Given the description of an element on the screen output the (x, y) to click on. 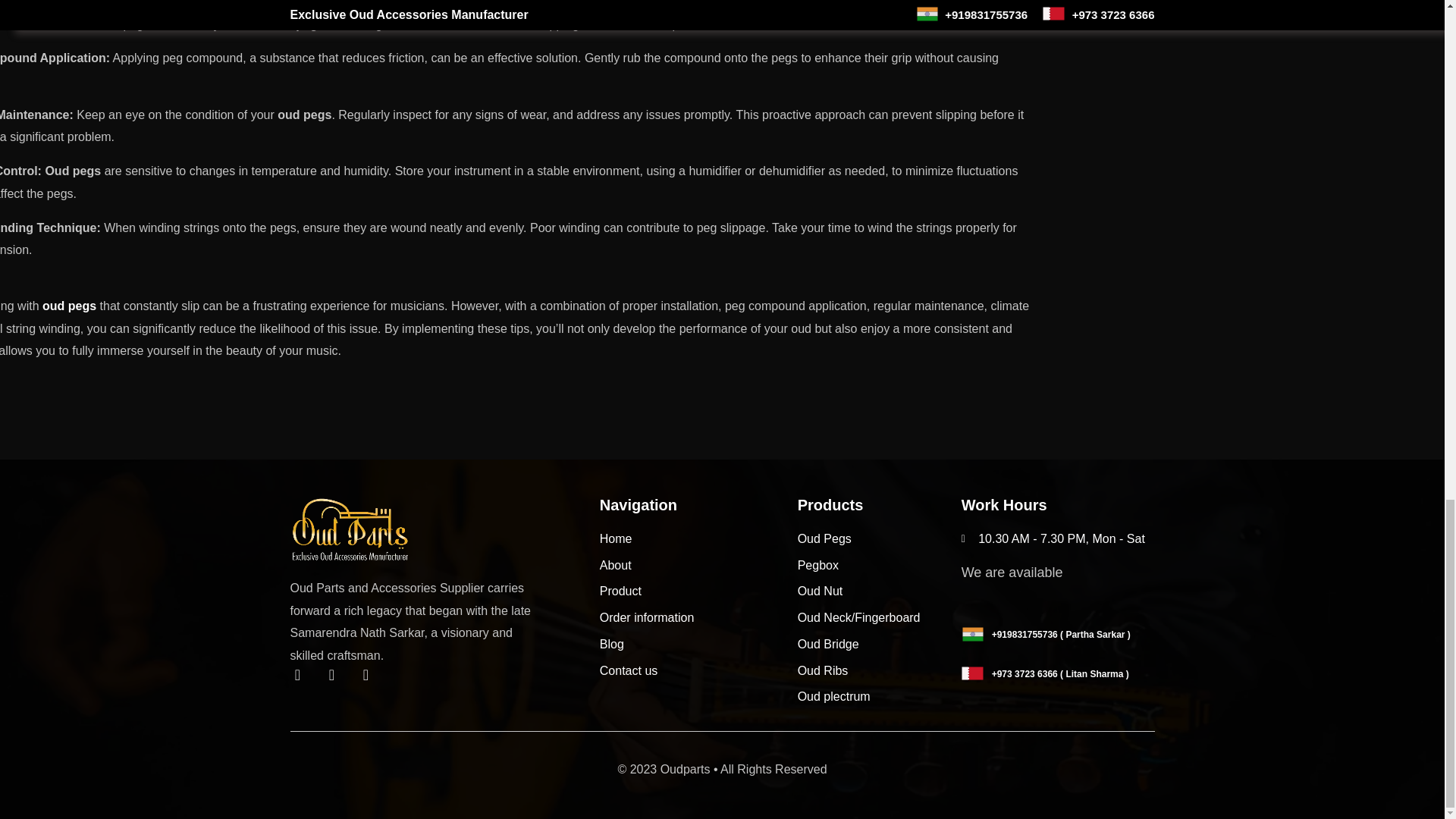
Facebook (304, 682)
oud pegs (69, 305)
Oud Bridge (878, 644)
Oud Nut (878, 590)
About (698, 565)
Pegbox (878, 565)
Home (698, 538)
Product (698, 590)
Youtube (373, 682)
Oud Ribs (878, 671)
Blog (698, 644)
Oud Pegs (878, 538)
Oud plectrum (878, 696)
Contact us (698, 671)
Instagram (339, 682)
